Given the description of an element on the screen output the (x, y) to click on. 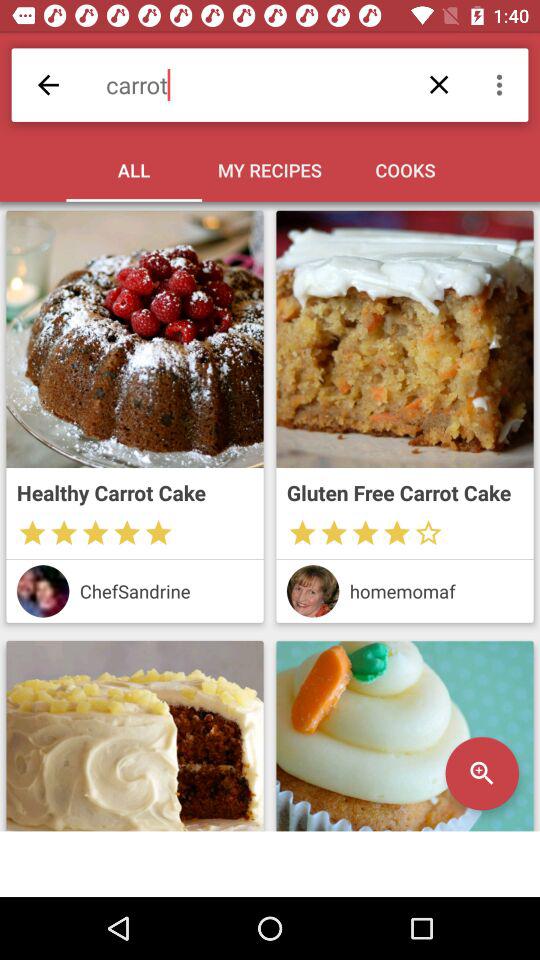
swipe to homemomaf icon (436, 590)
